Given the description of an element on the screen output the (x, y) to click on. 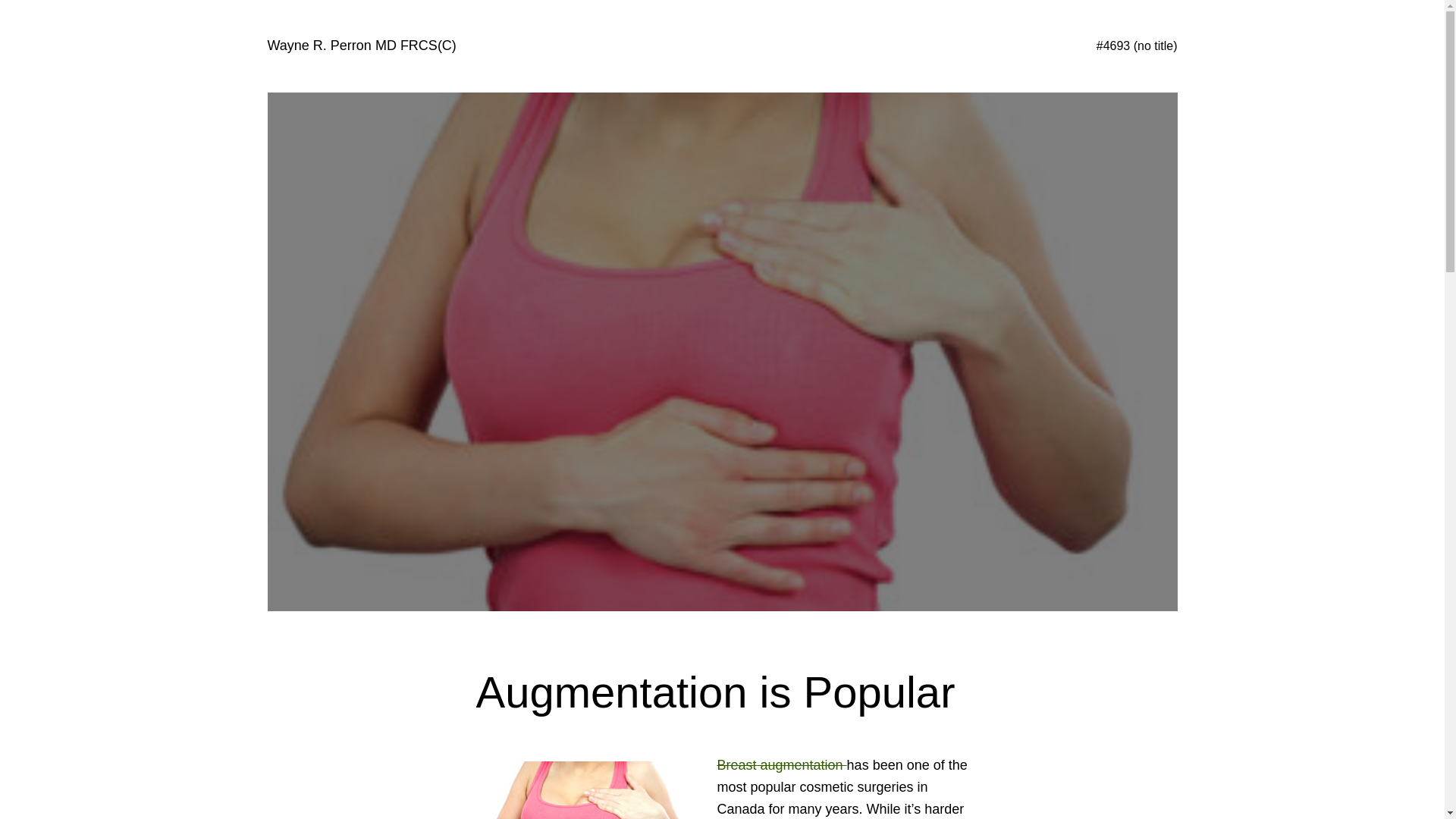
Breast augmentation (782, 765)
